Given the description of an element on the screen output the (x, y) to click on. 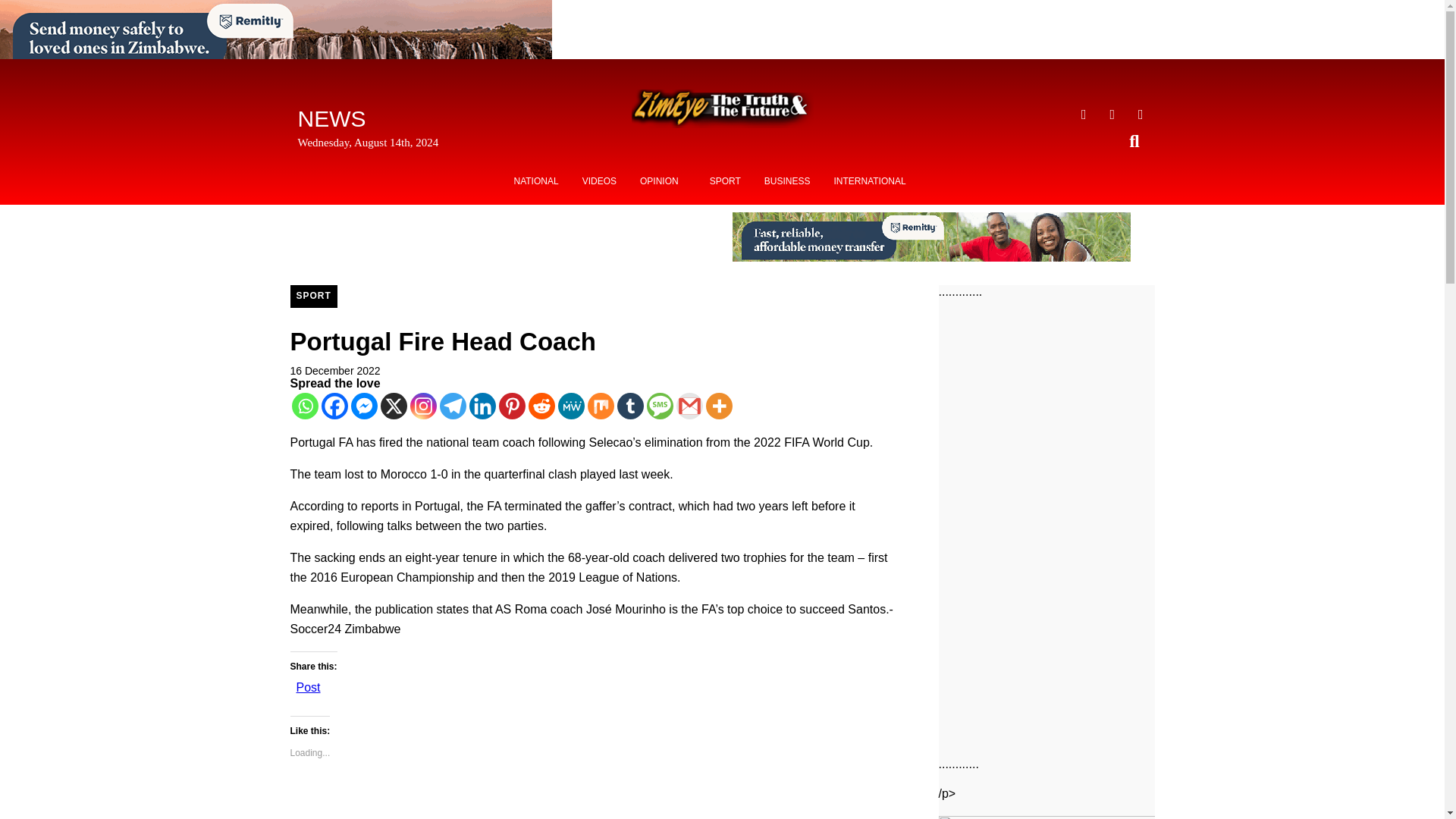
OPINION (662, 181)
Instagram (422, 406)
Linkedin (481, 406)
Telegram (452, 406)
BUSINESS (787, 181)
VIDEOS (598, 181)
SPORT (312, 296)
INTERNATIONAL (868, 181)
Mix (599, 406)
X (393, 406)
